Given the description of an element on the screen output the (x, y) to click on. 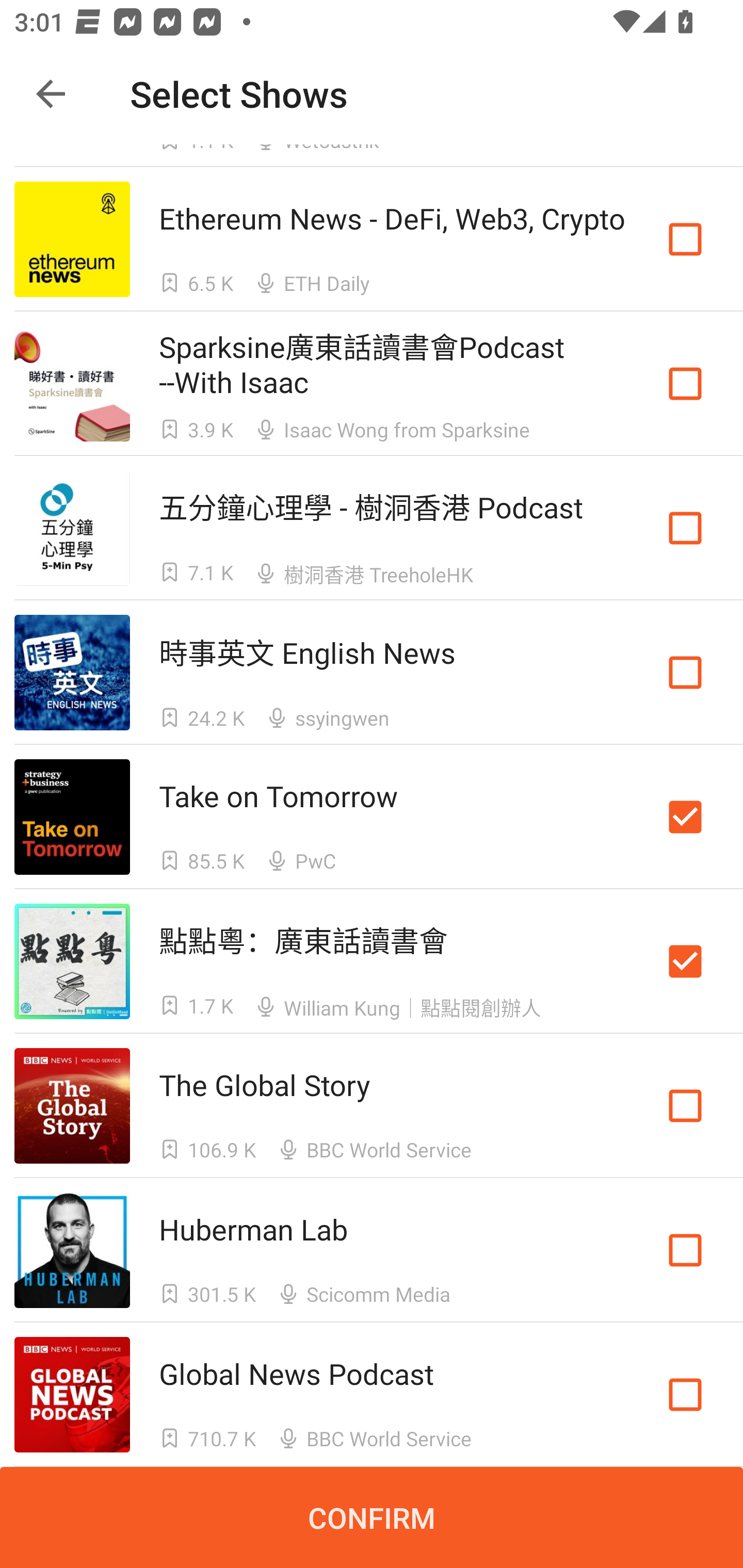
Navigate up (50, 93)
Take on Tomorrow Take on Tomorrow  85.5 K  PwC (371, 816)
CONFIRM (371, 1517)
